Given the description of an element on the screen output the (x, y) to click on. 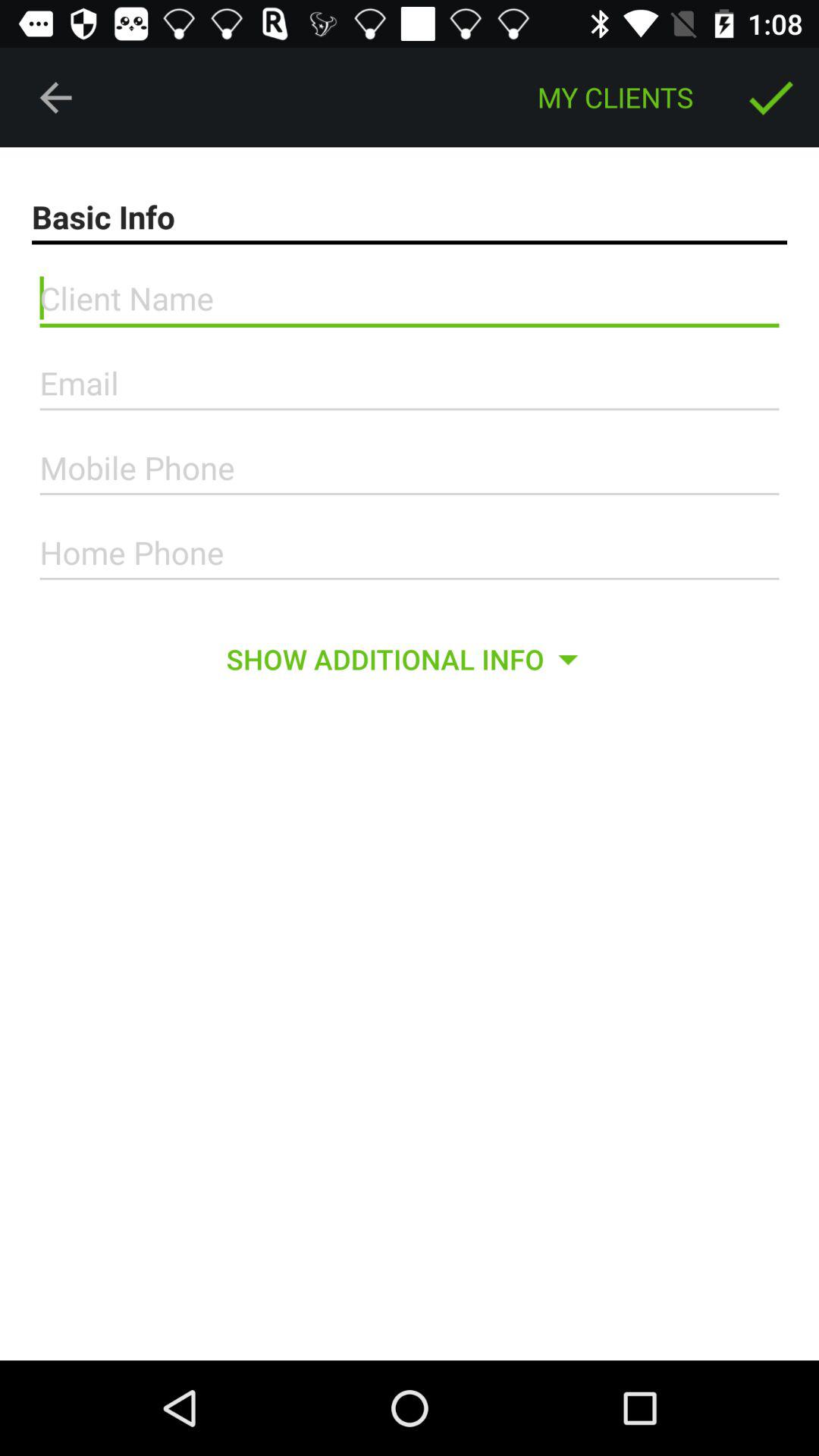
enter phone number (409, 552)
